Given the description of an element on the screen output the (x, y) to click on. 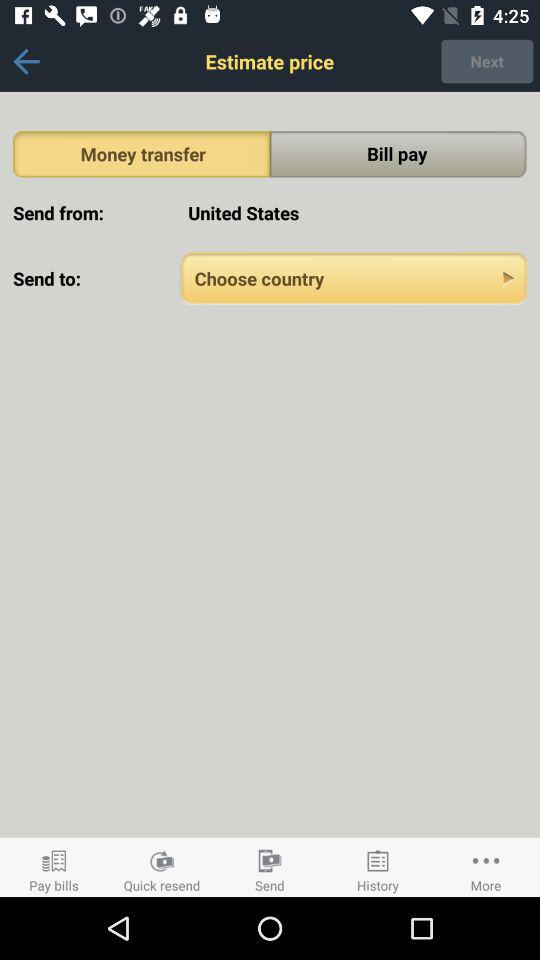
launch the icon to the right of money transfer item (398, 154)
